Given the description of an element on the screen output the (x, y) to click on. 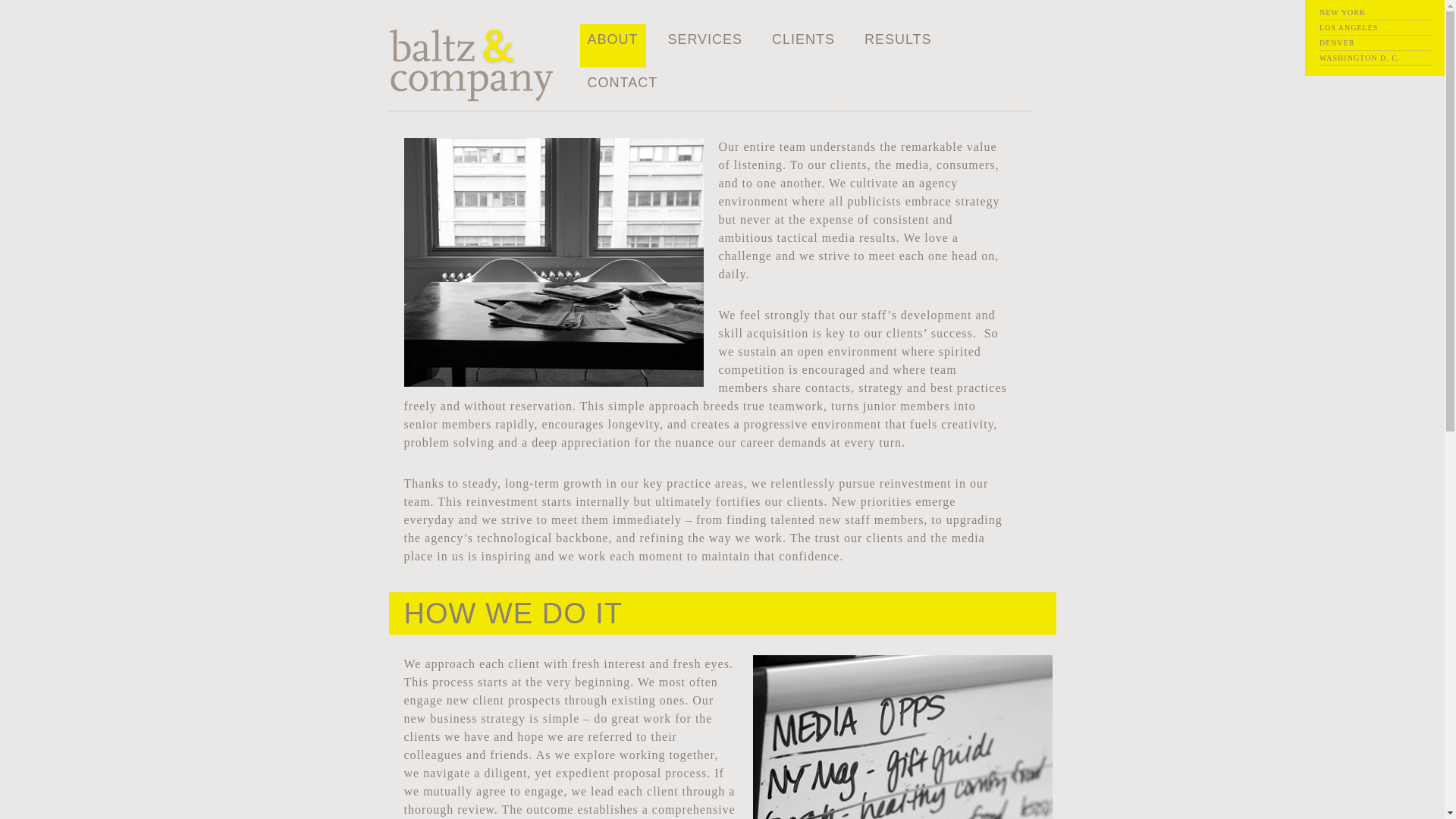
CLIENTS (802, 38)
ABOUT (611, 38)
SERVICES (704, 38)
LOS ANGELES (1348, 27)
NEW YORK (1342, 12)
RESULTS (897, 38)
CONTACT (622, 82)
DENVER (1337, 42)
WASHINGTON D. C. (1359, 58)
